Given the description of an element on the screen output the (x, y) to click on. 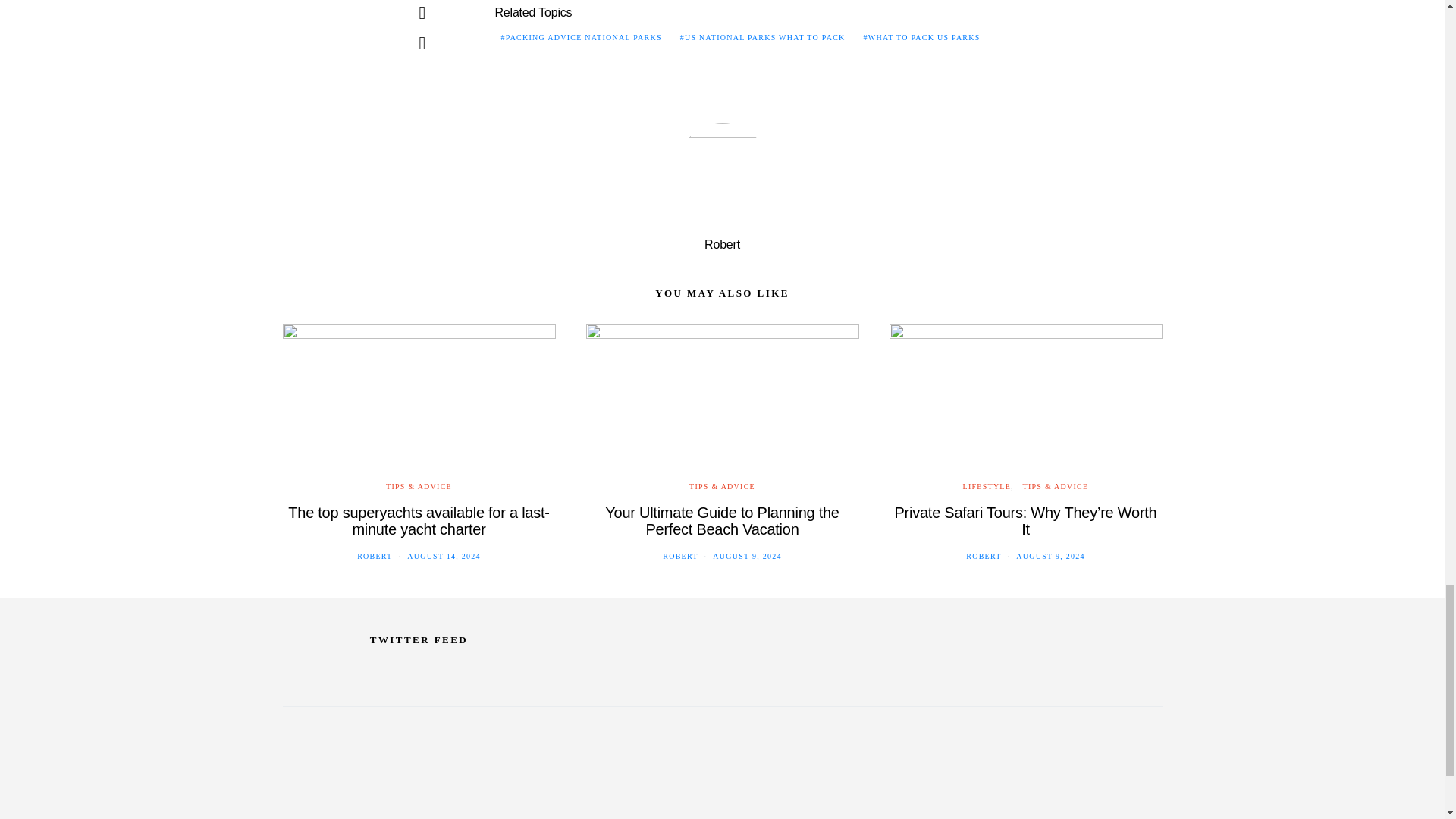
View all posts by Robert (373, 556)
View all posts by Robert (983, 556)
View all posts by Robert (679, 556)
